Given the description of an element on the screen output the (x, y) to click on. 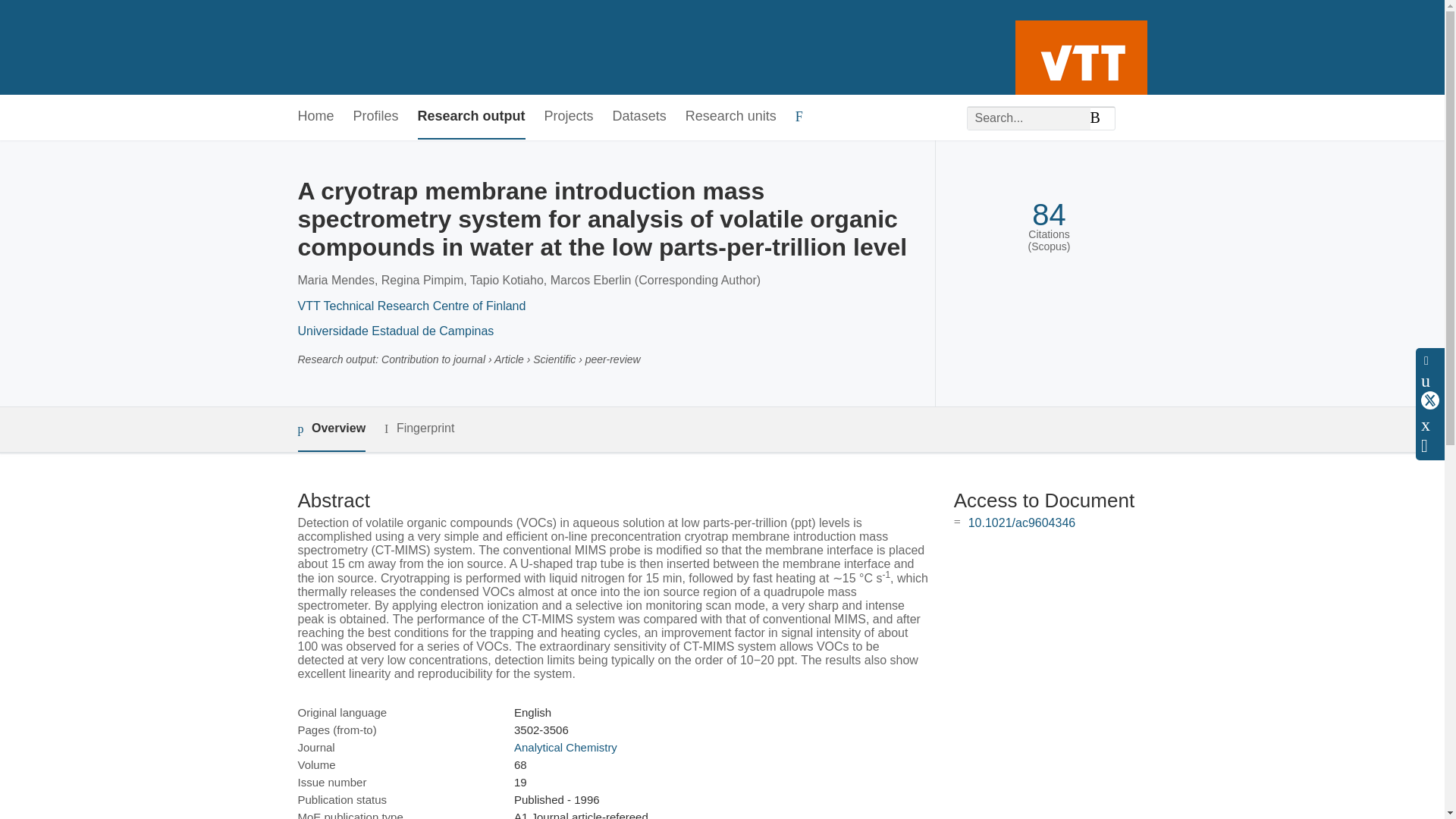
VTT's Research Information Portal Home (322, 47)
Projects (569, 117)
Research units (730, 117)
Fingerprint (419, 428)
VTT Technical Research Centre of Finland (411, 305)
84 (1048, 214)
Overview (331, 429)
Research output (471, 117)
Datasets (639, 117)
Profiles (375, 117)
Analytical Chemistry (565, 747)
Universidade Estadual de Campinas (395, 330)
